Given the description of an element on the screen output the (x, y) to click on. 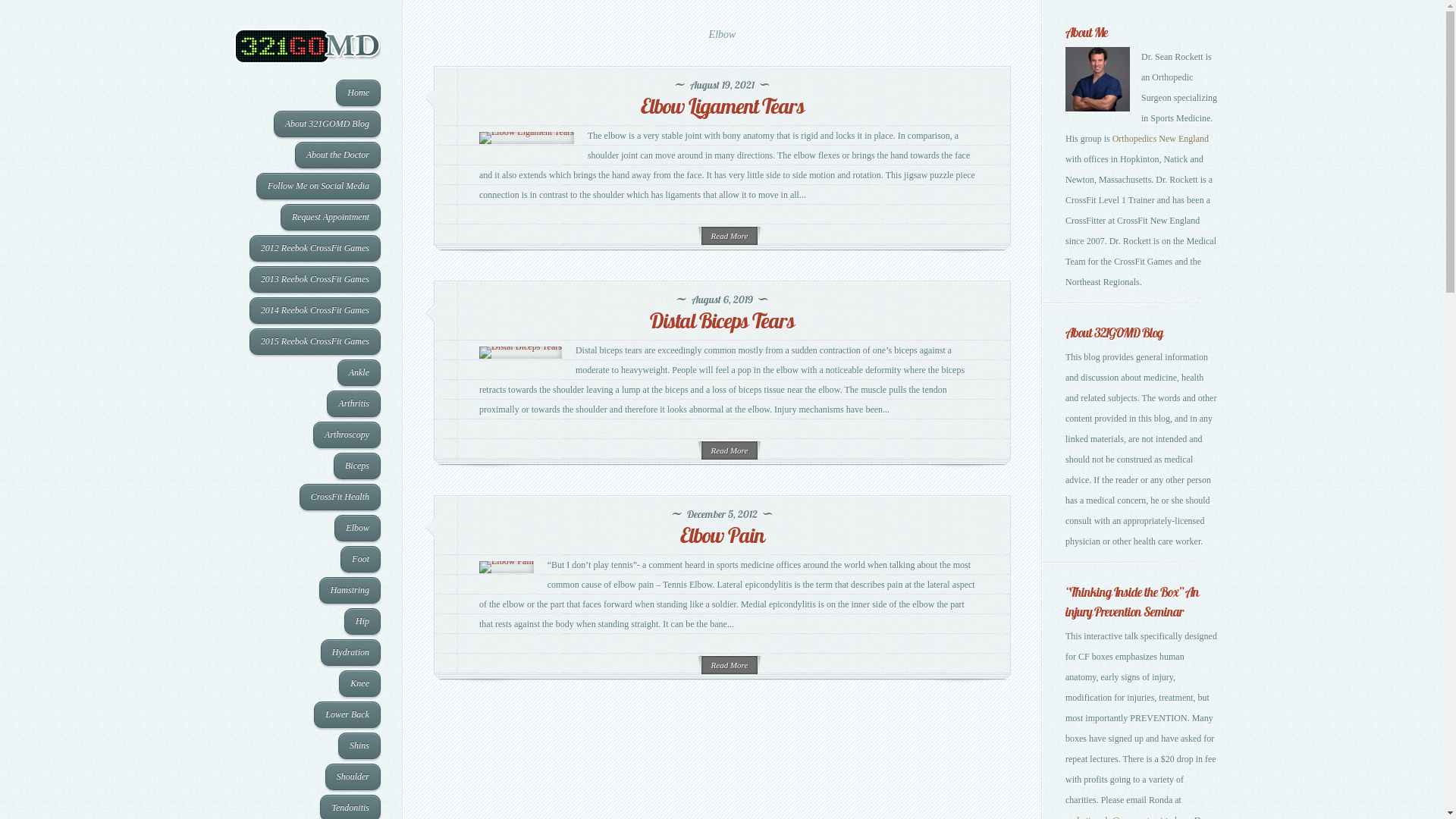
2013 Reebok CrossFit Games Element type: text (314, 279)
Arthroscopy Element type: text (346, 434)
Read More Element type: text (729, 449)
Orthopedics New England Element type: text (1160, 138)
Knee Element type: text (359, 683)
Hip Element type: text (362, 621)
Read More Element type: text (729, 664)
2014 Reebok CrossFit Games Element type: text (314, 310)
CrossFit Health Element type: text (339, 496)
Shoulder Element type: text (352, 776)
Elbow Element type: text (357, 527)
Read More Element type: text (729, 234)
Elbow Ligament Tears Element type: text (721, 105)
Home Element type: text (357, 92)
Hamstring Element type: text (349, 590)
Distal Biceps Tears Element type: text (721, 320)
Arthritis Element type: text (353, 403)
Follow Me on Social Media Element type: text (318, 185)
Shins Element type: text (359, 745)
Biceps Element type: text (356, 465)
Elbow Pain Element type: text (722, 534)
About 321GOMD Blog Element type: text (326, 123)
Ankle Element type: text (358, 372)
2012 Reebok CrossFit Games Element type: text (314, 248)
About the Doctor Element type: text (337, 154)
Foot Element type: text (360, 559)
Request Appointment Element type: text (330, 216)
Hydration Element type: text (350, 652)
2015 Reebok CrossFit Games Element type: text (314, 341)
Lower Back Element type: text (346, 714)
